Given the description of an element on the screen output the (x, y) to click on. 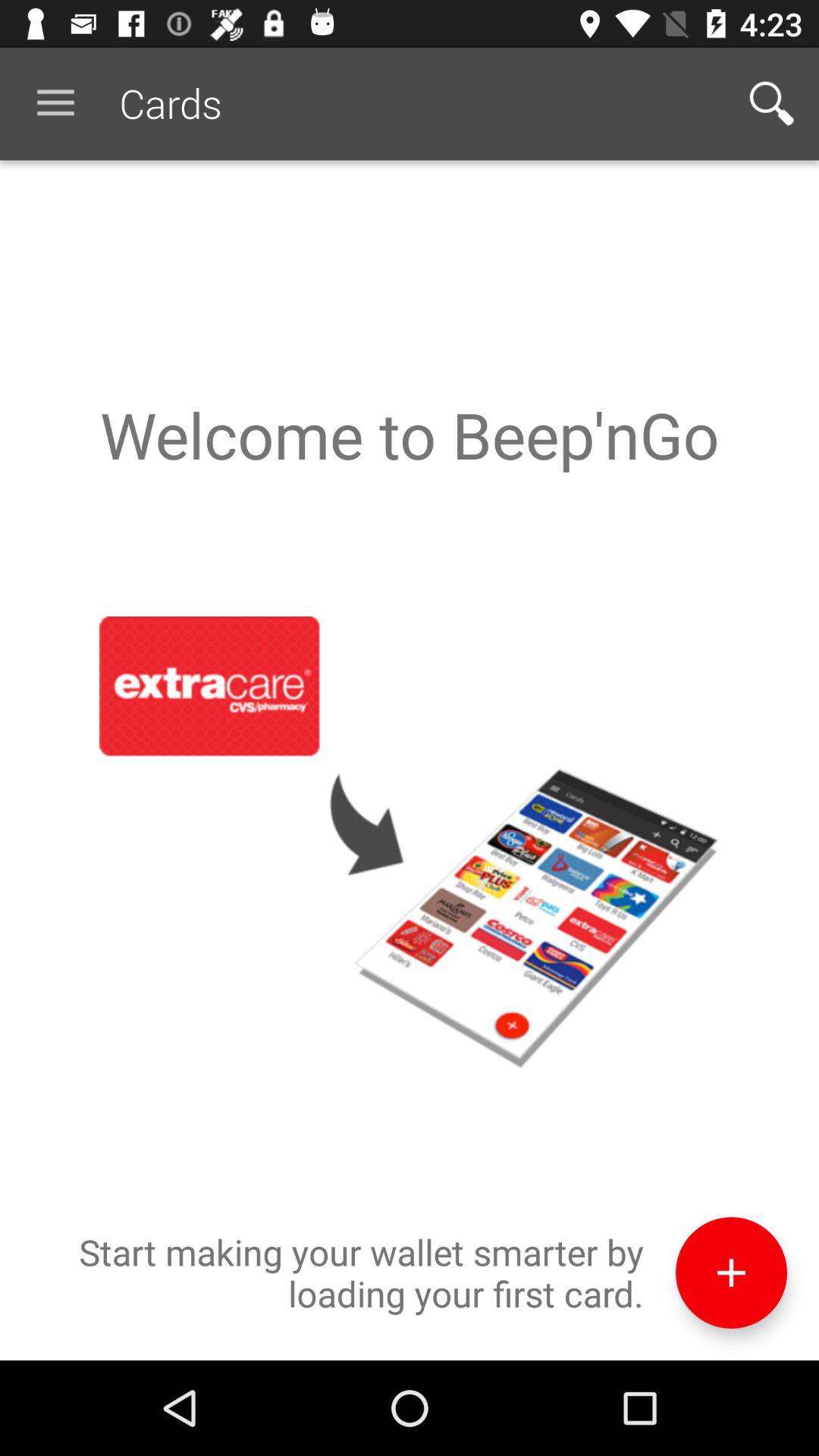
choose icon next to cards item (55, 103)
